Given the description of an element on the screen output the (x, y) to click on. 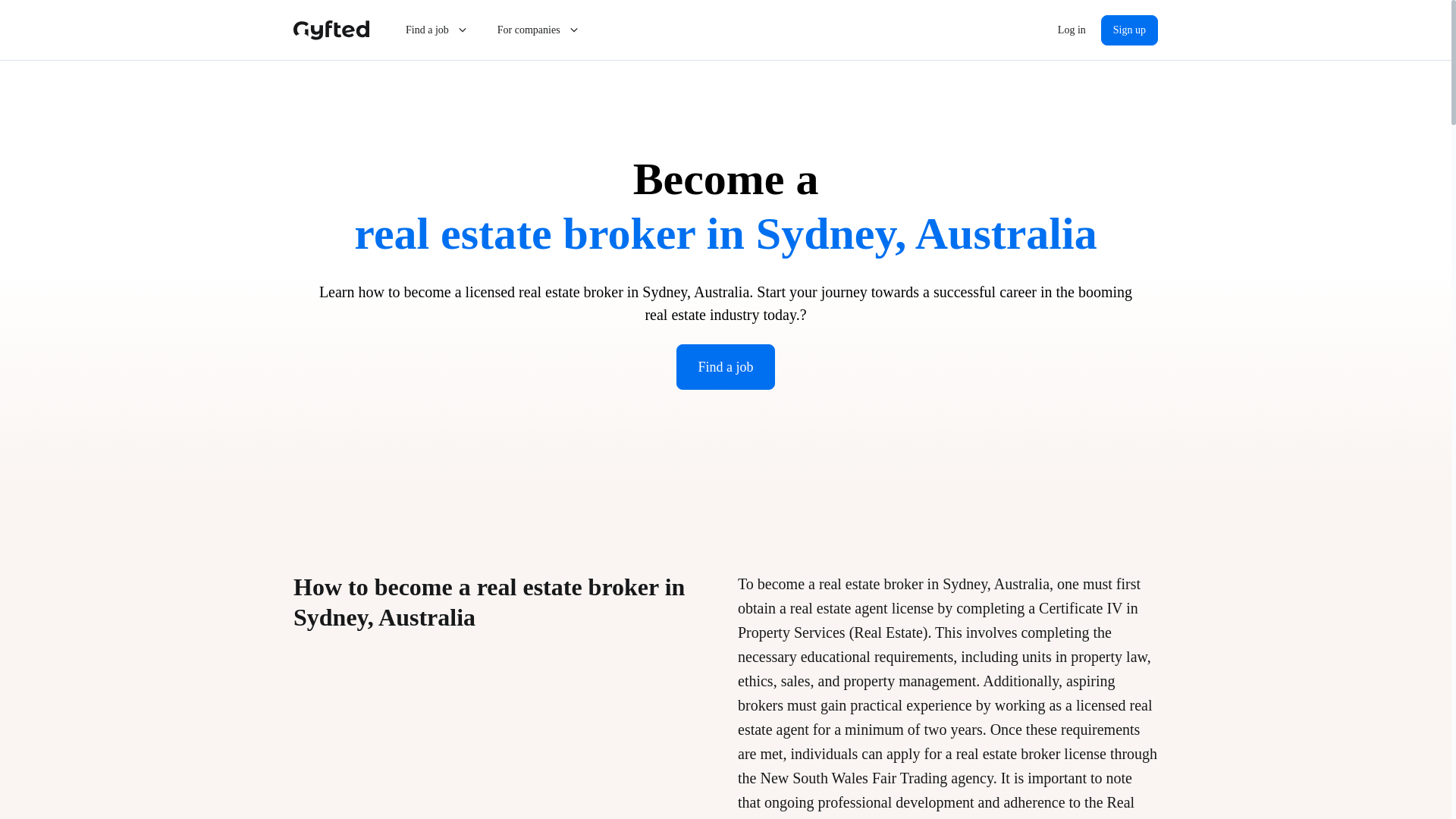
Find a job (725, 366)
Find a job (437, 30)
For companies (539, 30)
Log in (1071, 30)
Sign up (1128, 30)
